Given the description of an element on the screen output the (x, y) to click on. 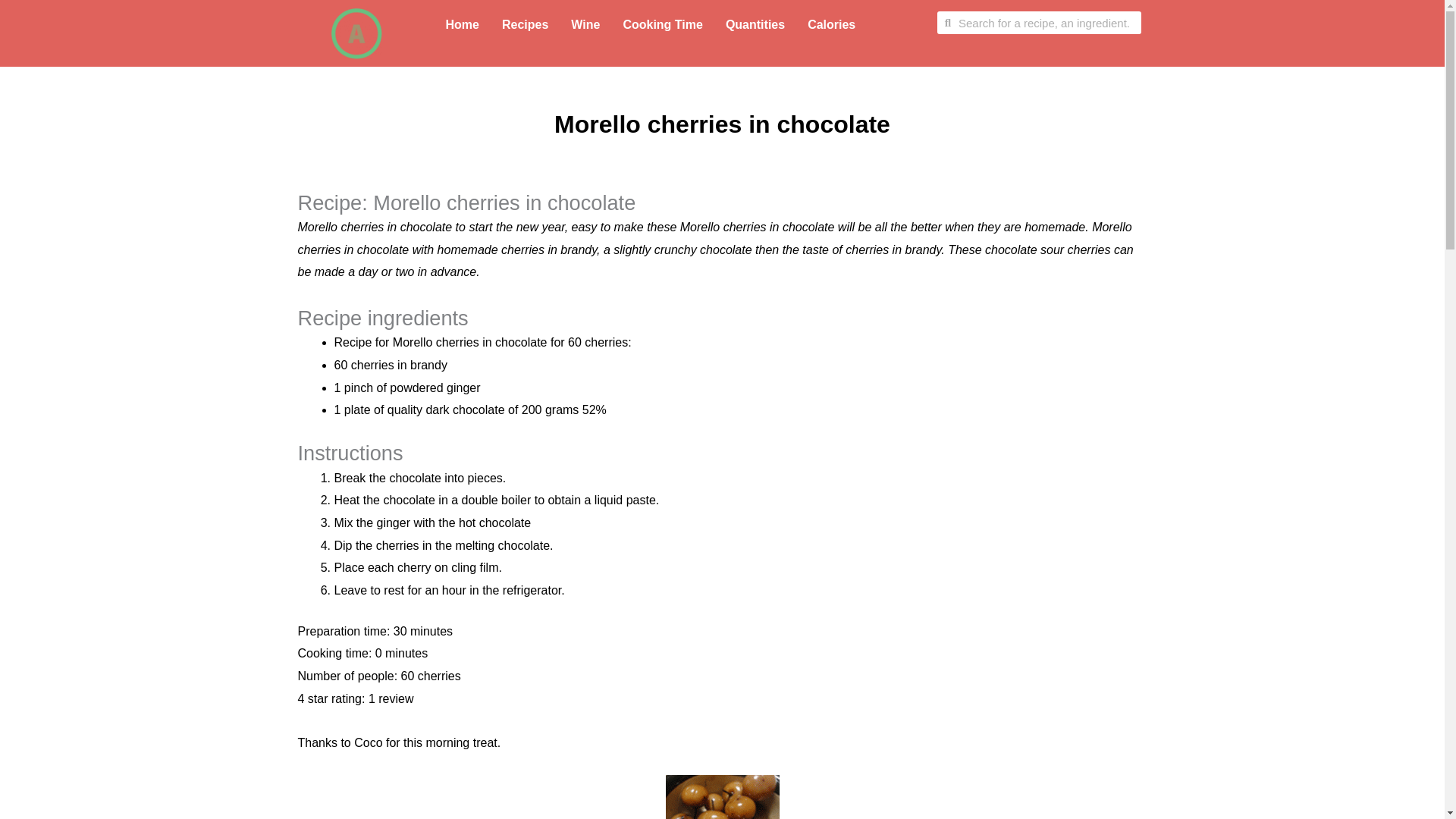
Calories (831, 24)
Cooking Time (662, 24)
Quantities (754, 24)
Search (1045, 22)
Home (461, 24)
Recipes (524, 24)
Wine (585, 24)
